Given the description of an element on the screen output the (x, y) to click on. 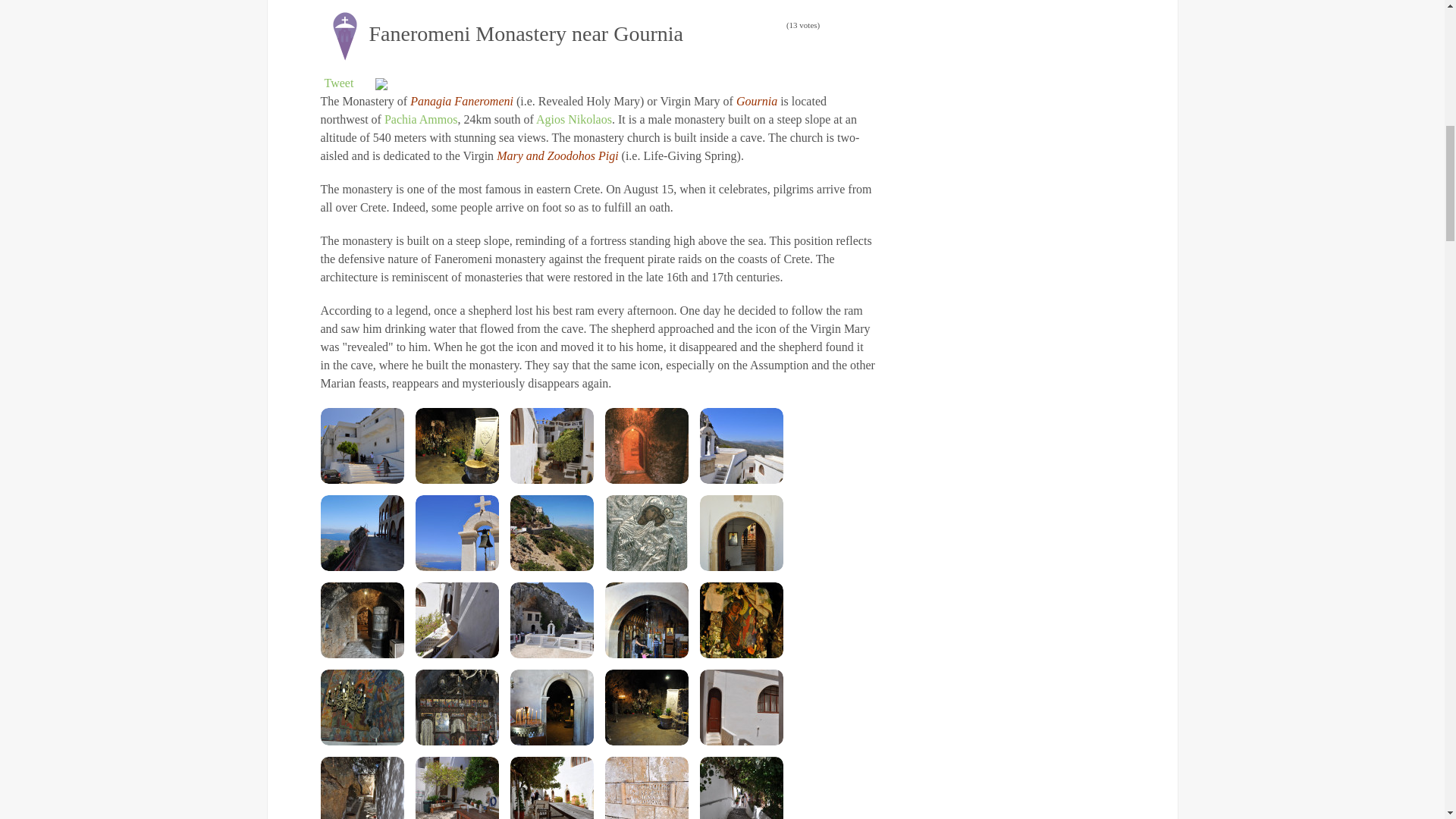
Faneromeni Monastery near Gournia (646, 445)
3 stars out of 5 (716, 25)
4 stars out of 5 (726, 25)
Faneromeni Monastery near Gournia (456, 532)
1 star out of 5 (697, 25)
Faneromeni Monastery near Gournia (361, 445)
Faneromeni Monastery near Gournia (361, 532)
Faneromeni Monastery near Gournia (550, 532)
Faneromeni Monastery near Gournia (646, 532)
5 stars out of 5 (735, 25)
